Given the description of an element on the screen output the (x, y) to click on. 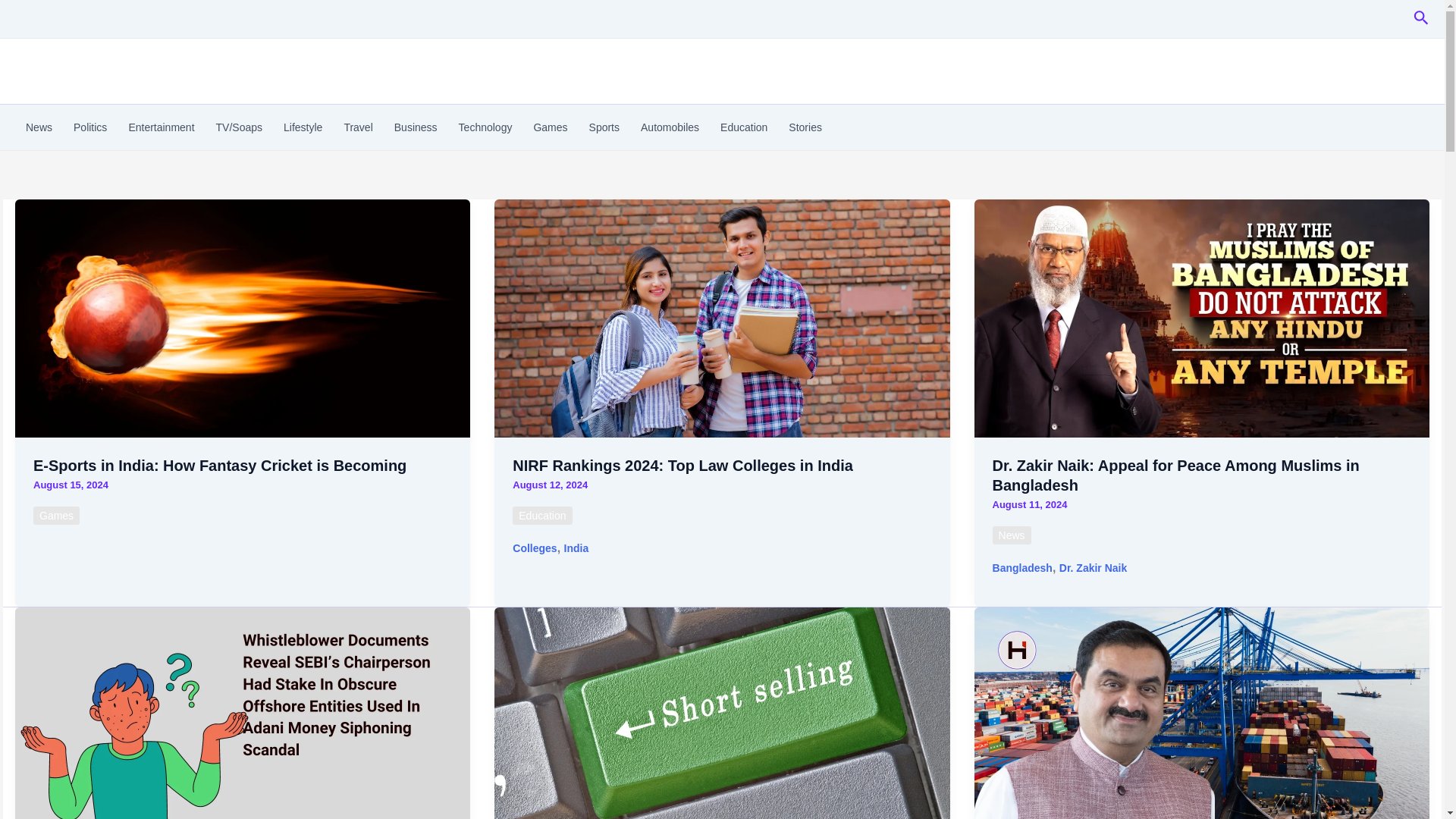
India (576, 548)
Colleges (534, 548)
News (38, 126)
Sports (604, 126)
Education (743, 126)
E-Sports in India: How Fantasy Cricket is Becoming (219, 465)
Education (542, 515)
Business (416, 126)
NIRF Rankings 2024: Top Law Colleges in India (682, 465)
Technology (485, 126)
